Given the description of an element on the screen output the (x, y) to click on. 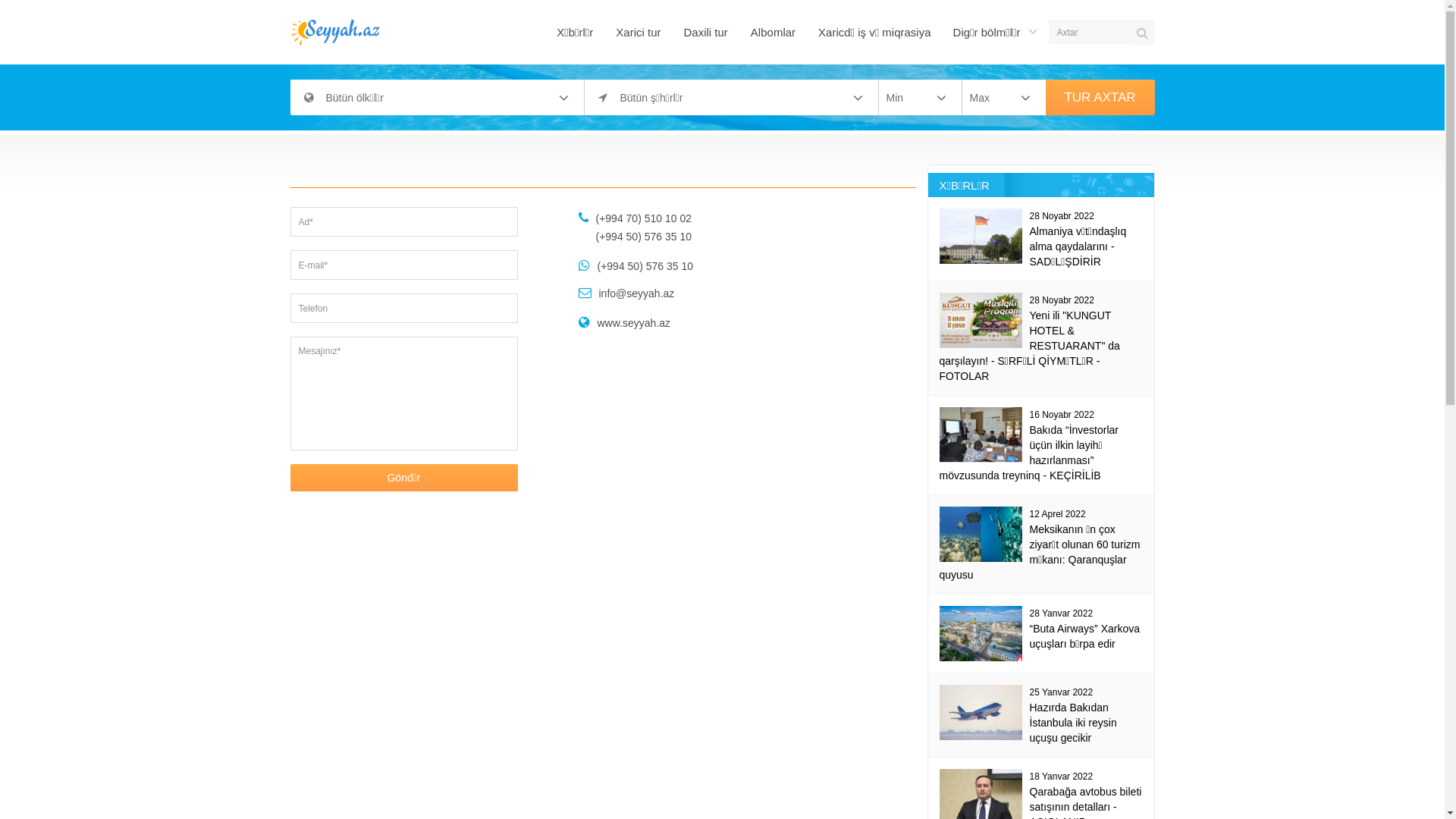
info@seyyah.az Element type: text (636, 293)
Daxili tur Element type: text (704, 32)
Albomlar Element type: text (772, 32)
TUR AXTAR Element type: text (1099, 97)
Xarici tur Element type: text (637, 32)
